Given the description of an element on the screen output the (x, y) to click on. 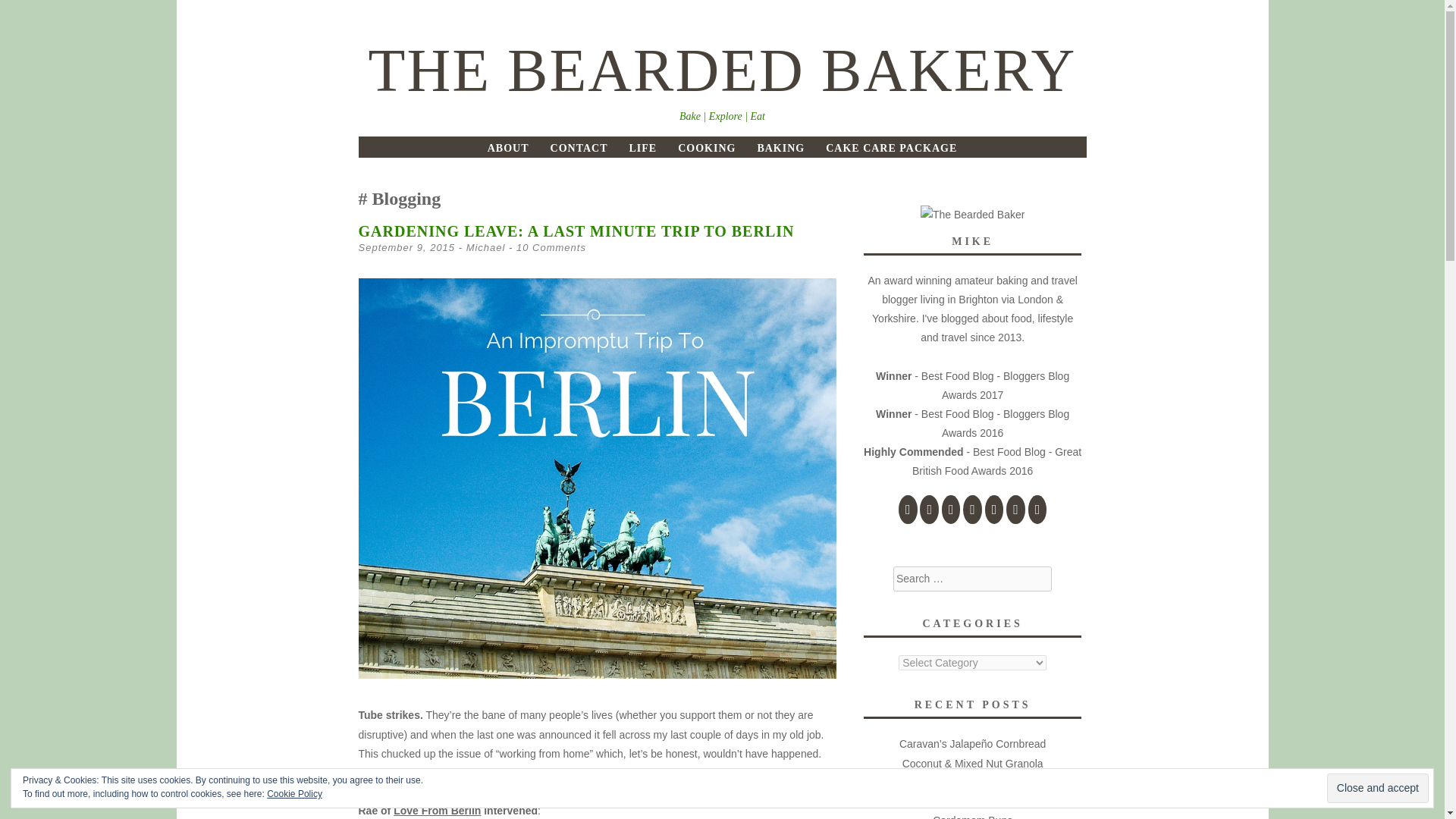
Love From Berlin (436, 810)
COOKING (706, 147)
September 9, 2015 (406, 247)
CAKE CARE PACKAGE (890, 147)
LIFE (642, 147)
CONTACT (579, 147)
10 Comments (551, 247)
THE BEARDED BAKERY (722, 70)
GARDENING LEAVE: A LAST MINUTE TRIP TO BERLIN (575, 230)
